Given the description of an element on the screen output the (x, y) to click on. 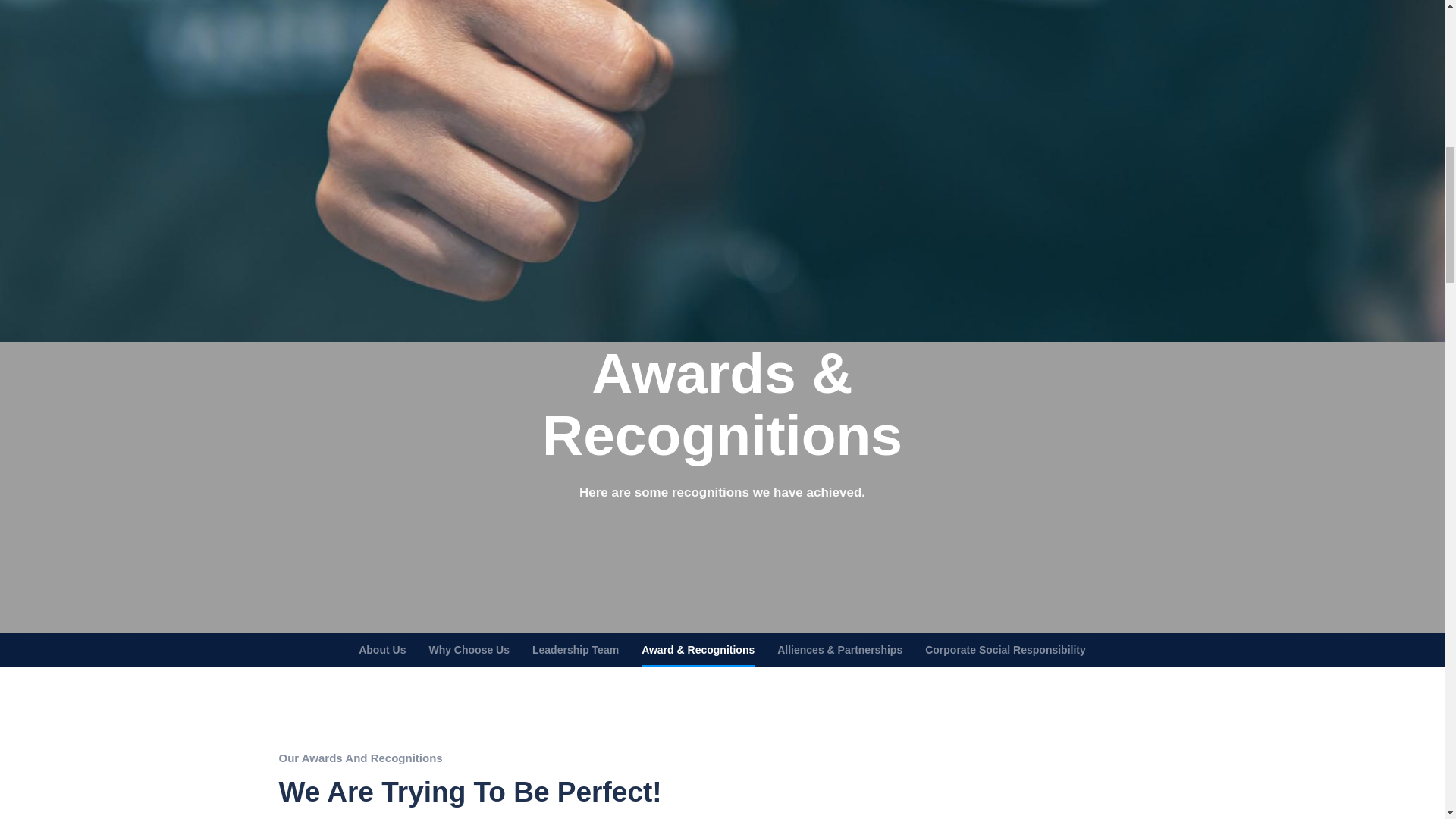
Leadership Team (575, 649)
About Us (382, 649)
Corporate Social Responsibility (1005, 649)
Why Choose Us (468, 649)
